Given the description of an element on the screen output the (x, y) to click on. 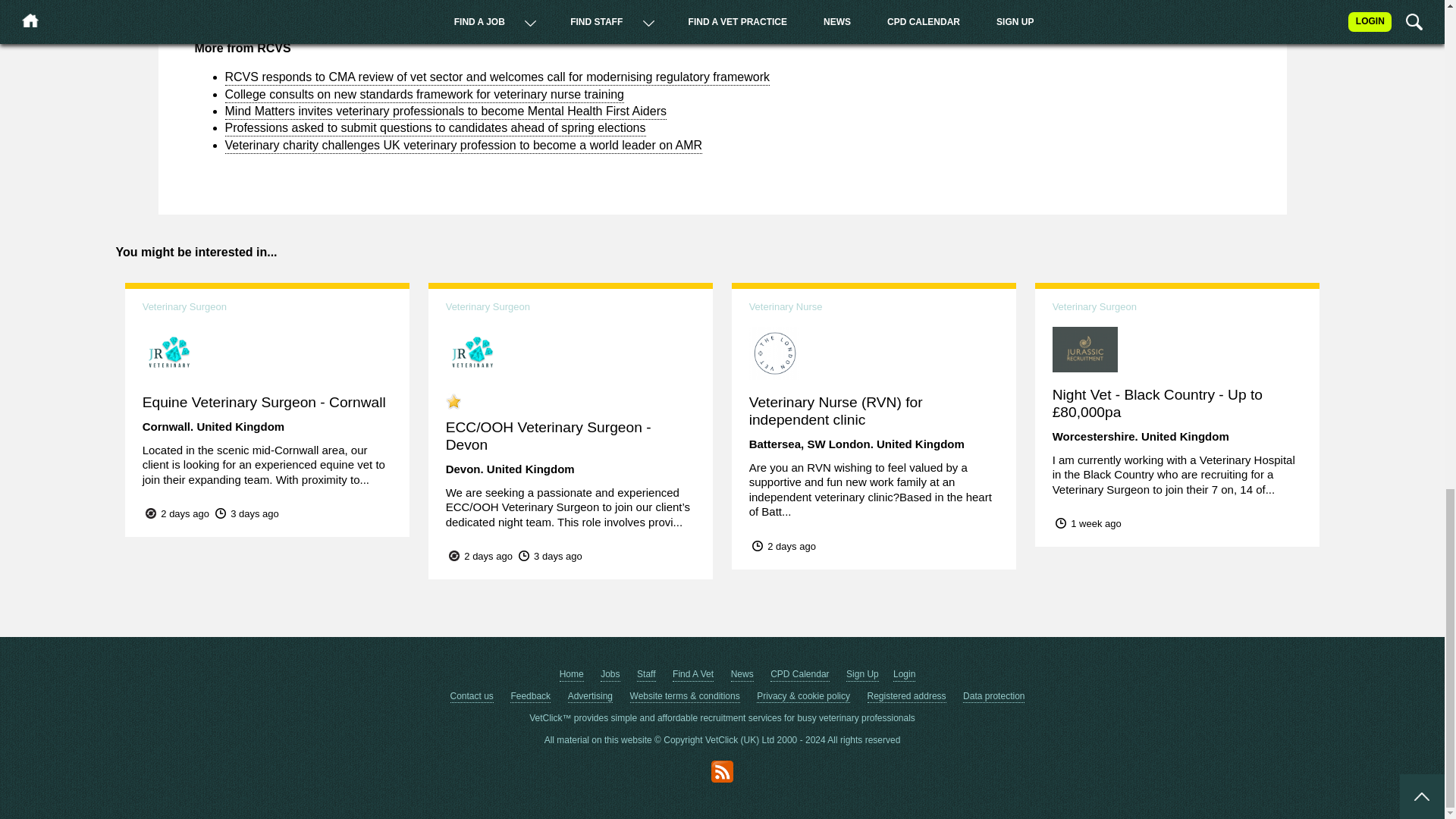
Subscribe to our RSS feeds (722, 771)
